Given the description of an element on the screen output the (x, y) to click on. 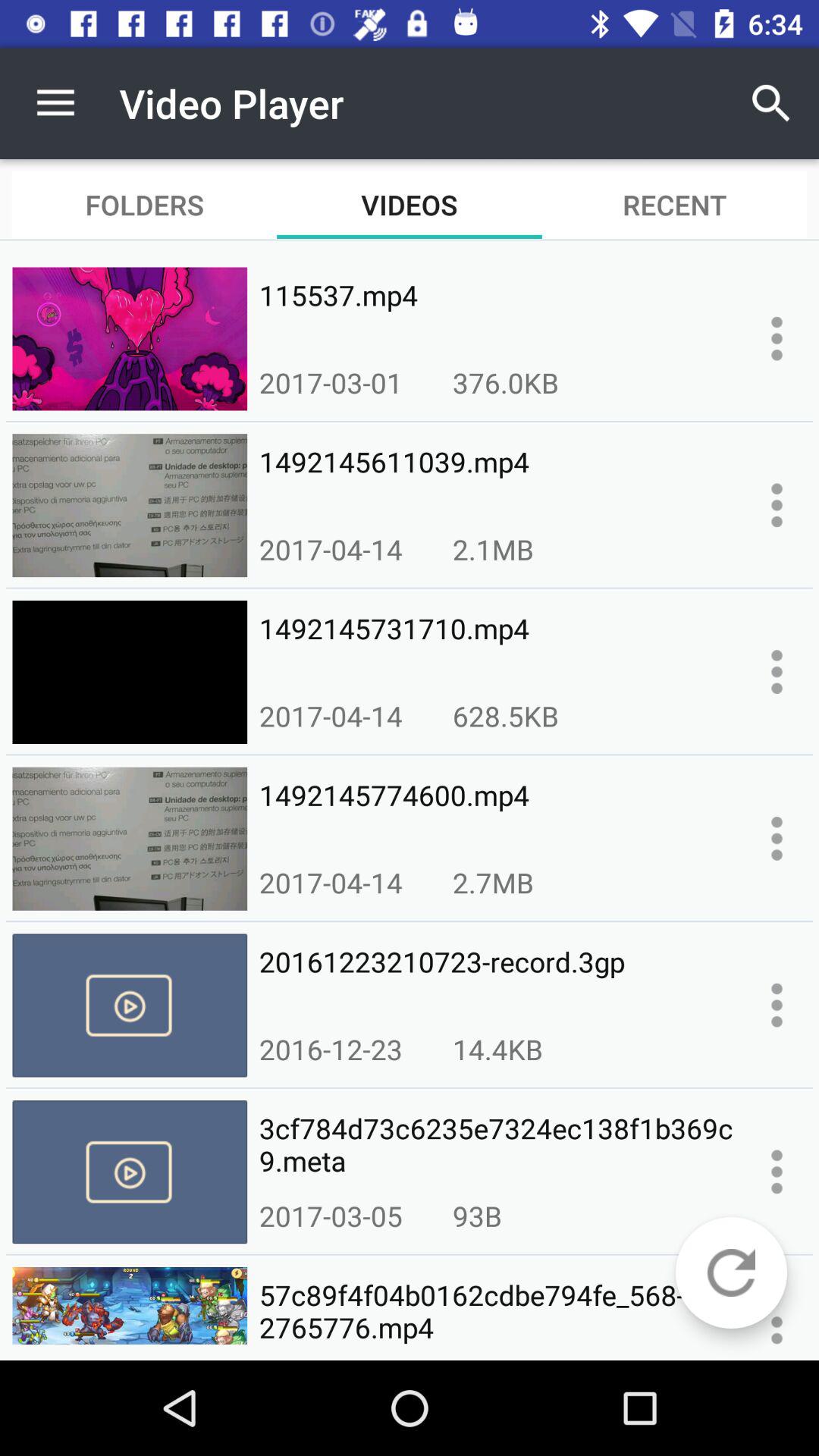
more info (776, 505)
